Given the description of an element on the screen output the (x, y) to click on. 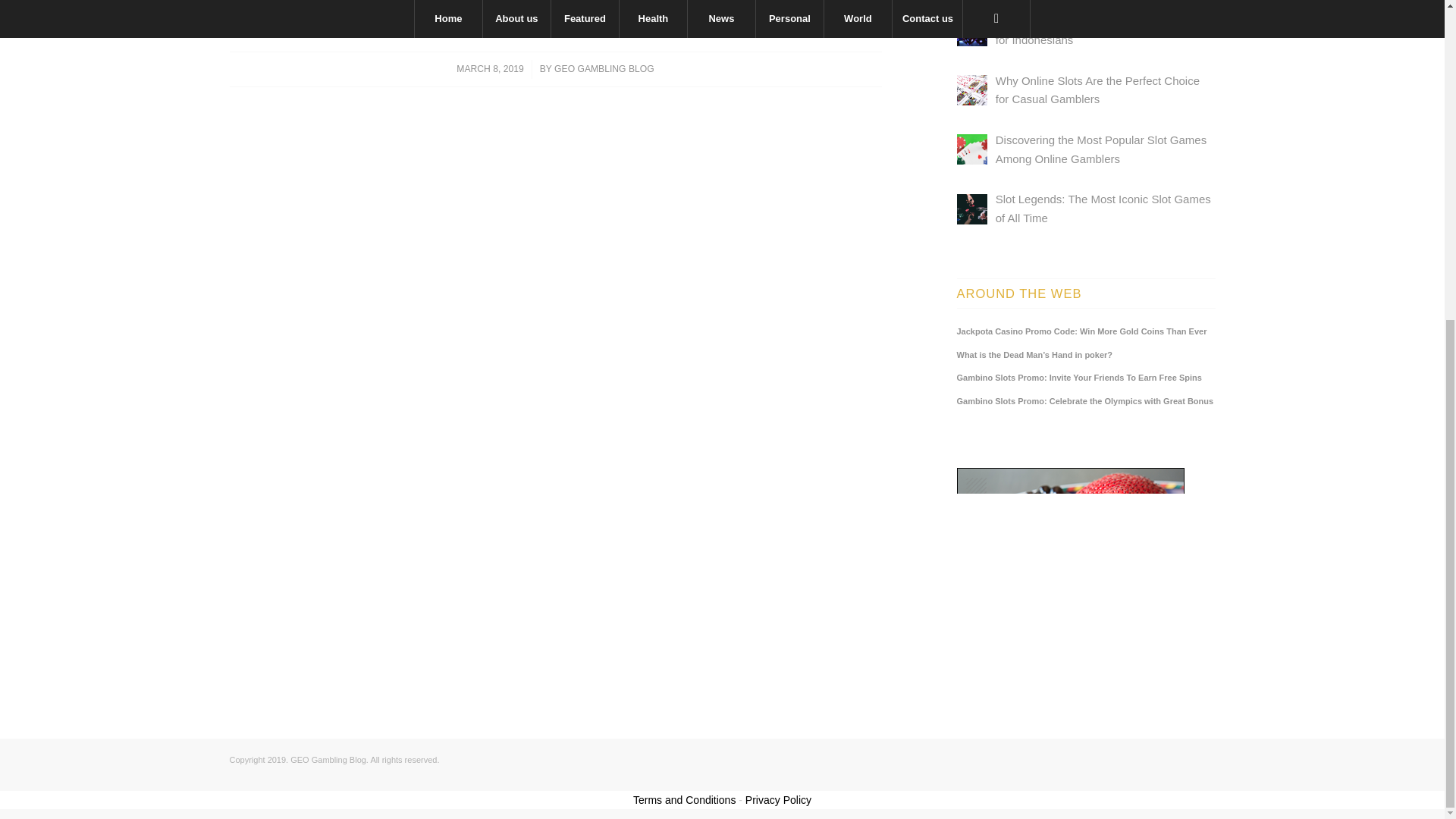
GEO GAMBLING BLOG (603, 68)
Gambino Slots Promo: Invite Your Friends To Earn Free Spins (1085, 377)
Exploring the Best Online Poker Platforms for Indonesians (1101, 29)
AROUND THE WEB (1085, 293)
Posts by GEO Gambling Blog (603, 68)
Privacy Policy (777, 799)
Gambino Slots Promo: Celebrate the Olympics with Great Bonus (1085, 400)
Jackpota Casino Promo Code: Win More Gold Coins Than Ever (1085, 331)
Terms and Conditions (684, 799)
